Given the description of an element on the screen output the (x, y) to click on. 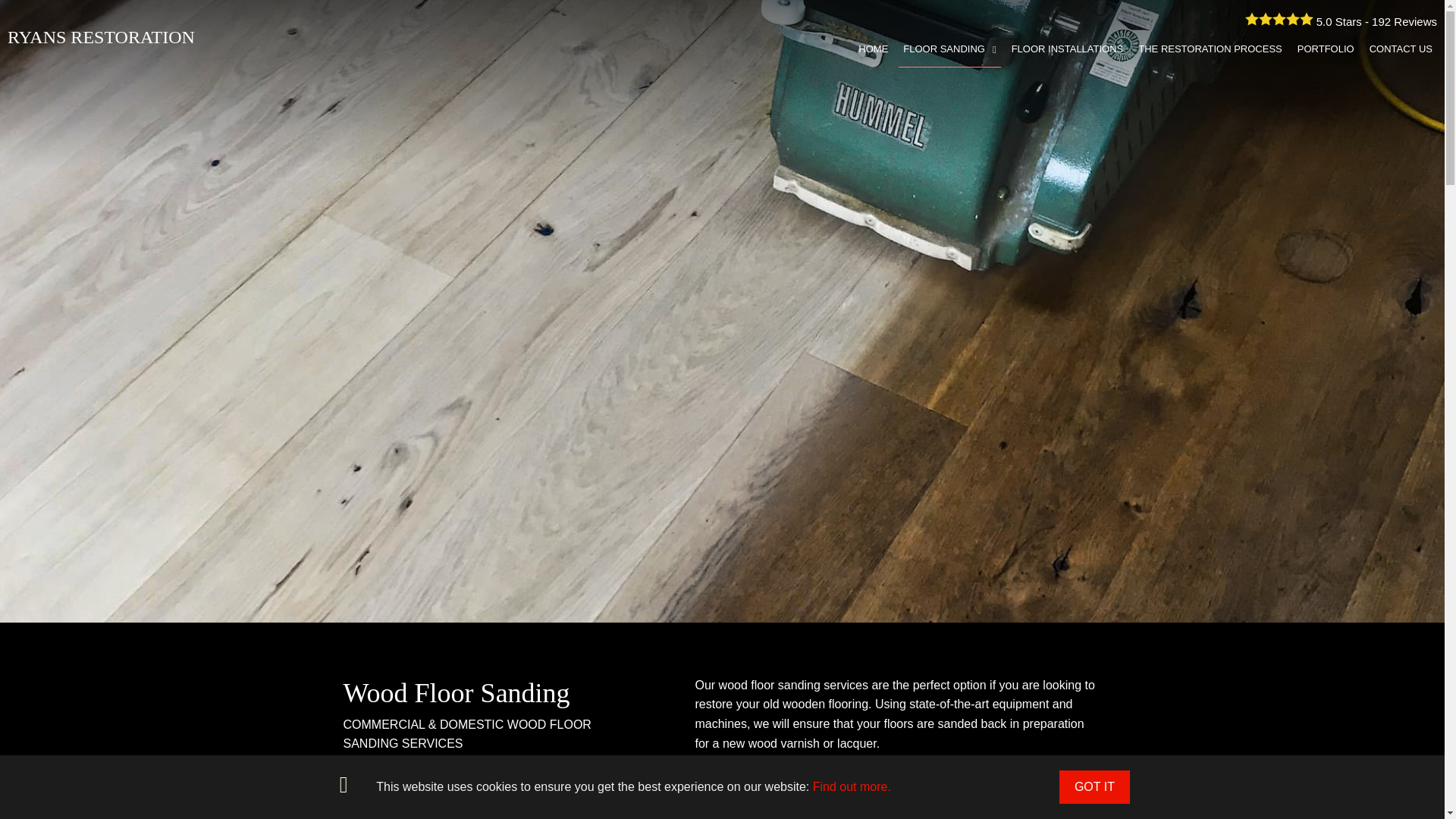
PORTFOLIO (1325, 49)
CONTACT US (1401, 49)
FLOOR SANDING (949, 49)
THE RESTORATION PROCESS (1210, 49)
RYANS RESTORATION (101, 36)
FLOOR INSTALLATIONS (1067, 49)
SPEAK TO US TODAY (417, 811)
HOME (872, 49)
